Given the description of an element on the screen output the (x, y) to click on. 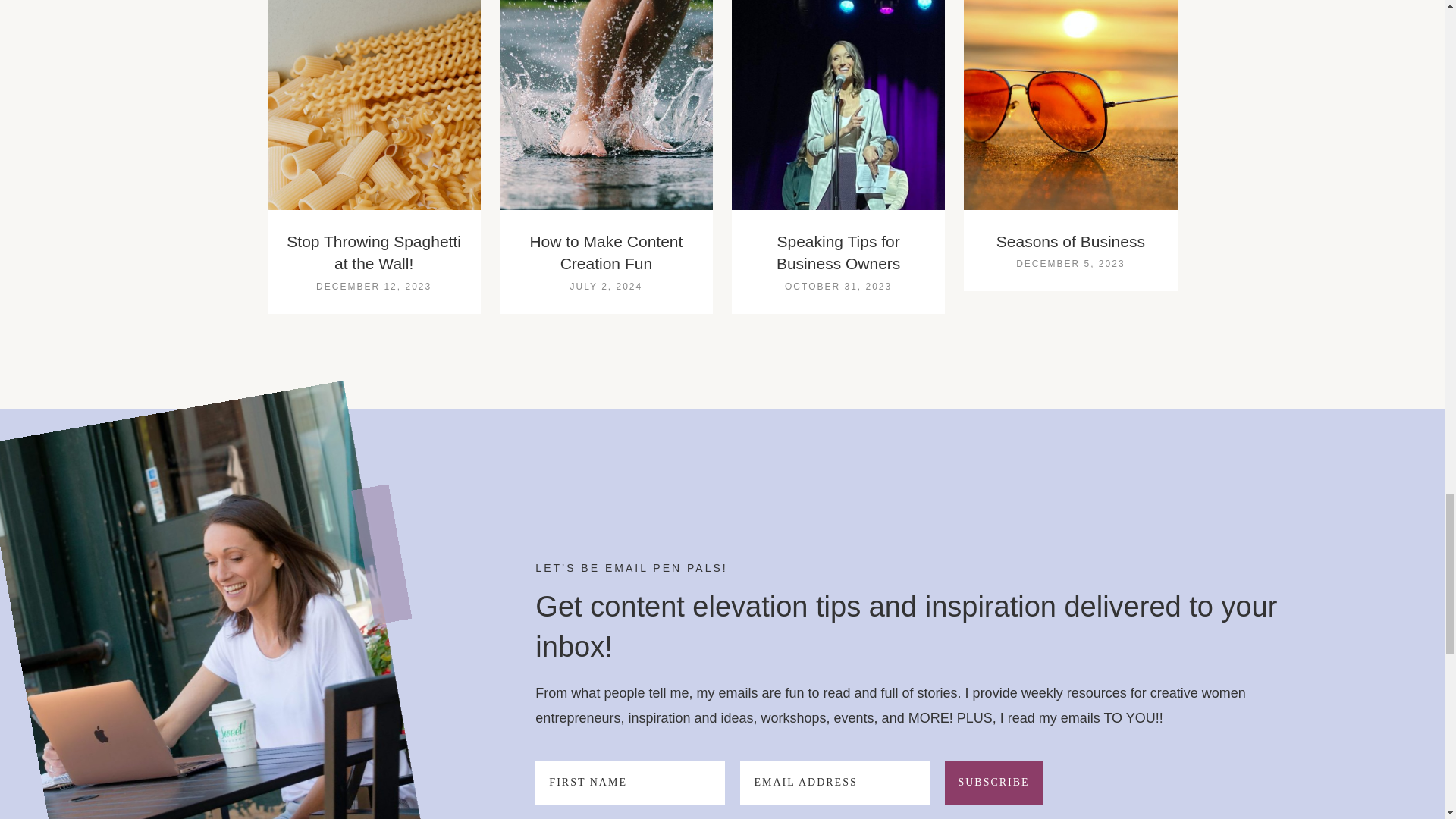
subscribe (993, 782)
